Given the description of an element on the screen output the (x, y) to click on. 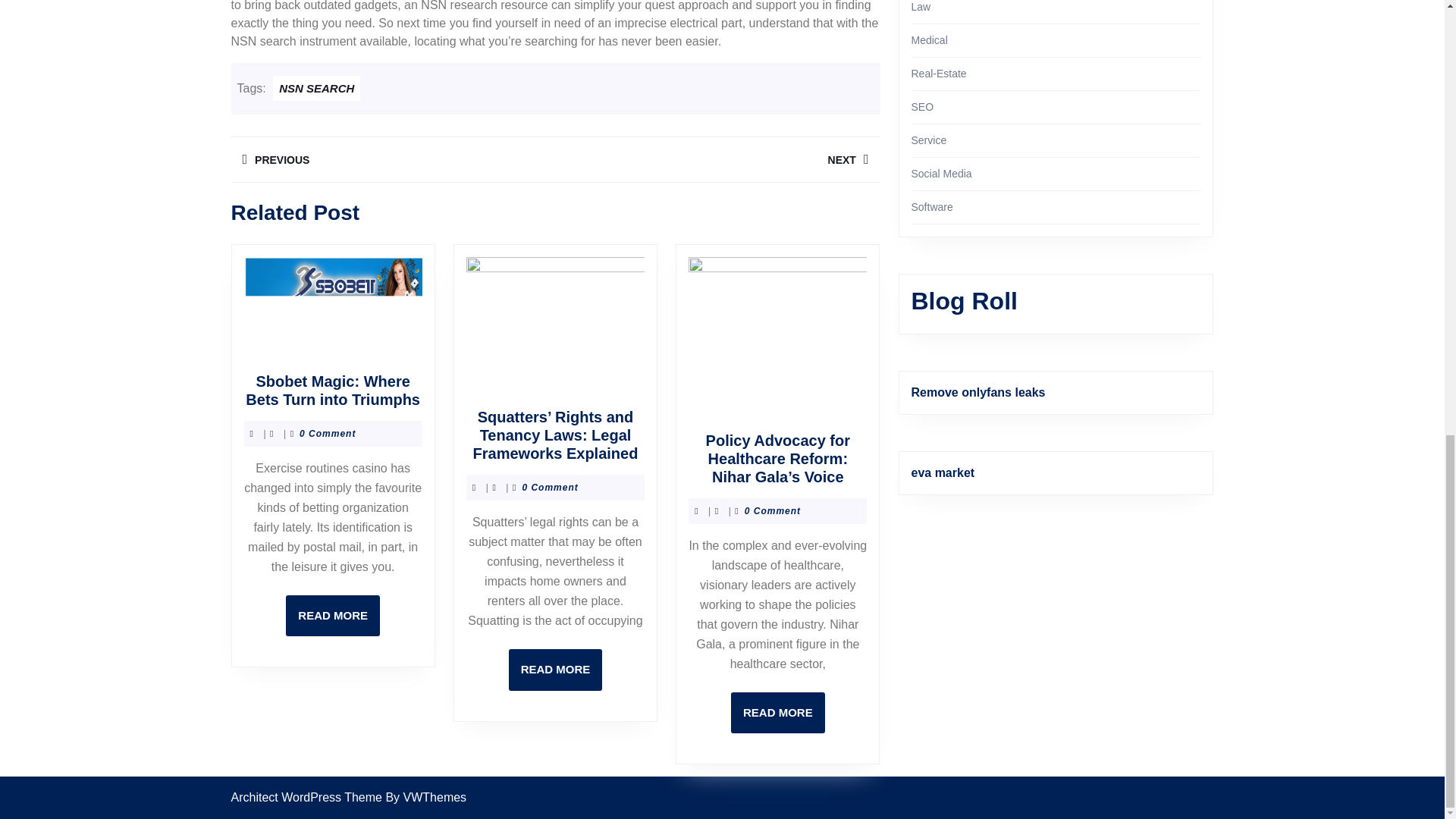
NSN SEARCH (777, 712)
